Given the description of an element on the screen output the (x, y) to click on. 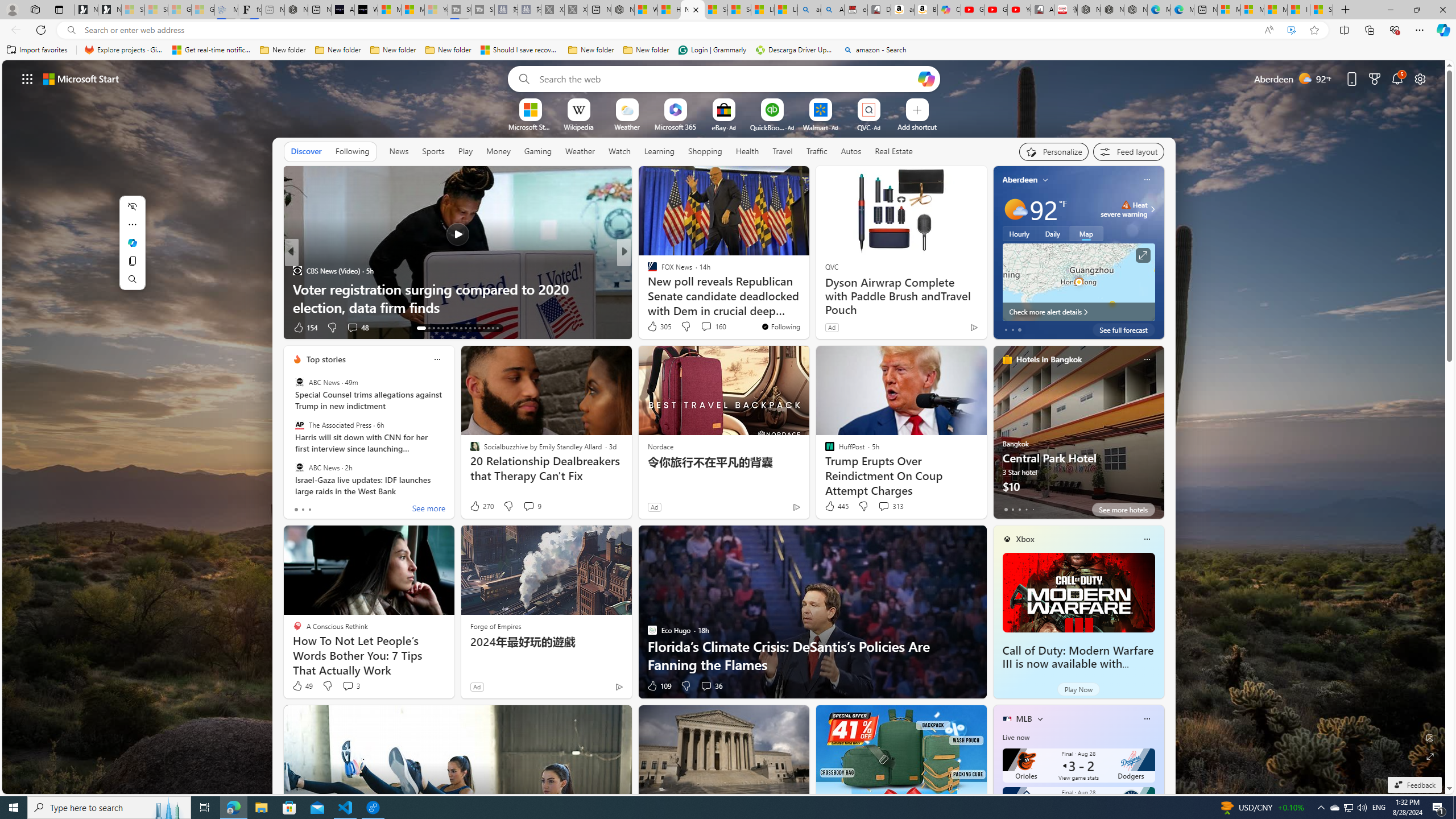
Ad (476, 686)
Play Now (1078, 689)
Learning (658, 151)
Washington Examiner (647, 270)
Favorites bar (728, 49)
Class: icon-img (1146, 718)
Feedback (1414, 784)
Ad Choice (619, 686)
View comments 6 Comment (705, 327)
AutomationID: tab-24 (474, 328)
AutomationID: tab-13 (417, 328)
See more (428, 509)
